Given the description of an element on the screen output the (x, y) to click on. 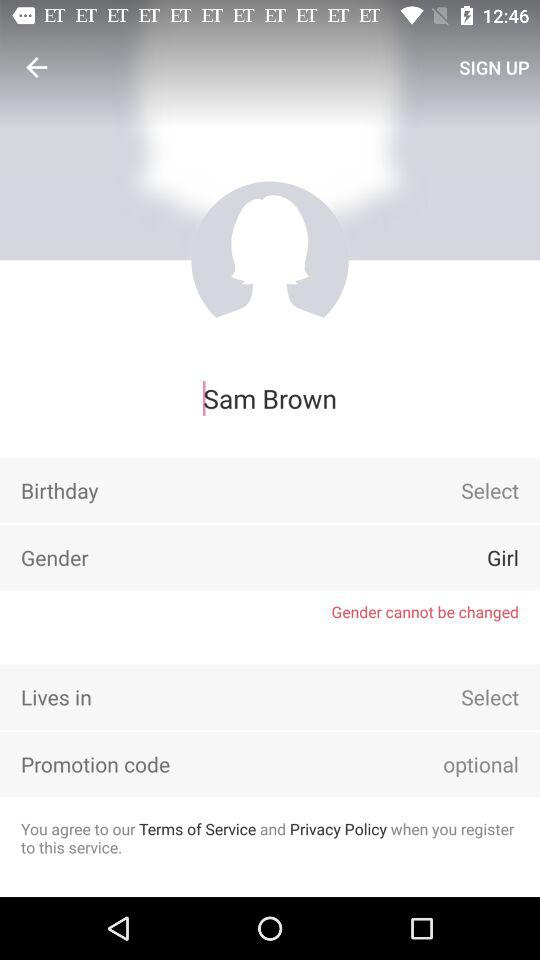
open item above you agree to icon (453, 764)
